Given the description of an element on the screen output the (x, y) to click on. 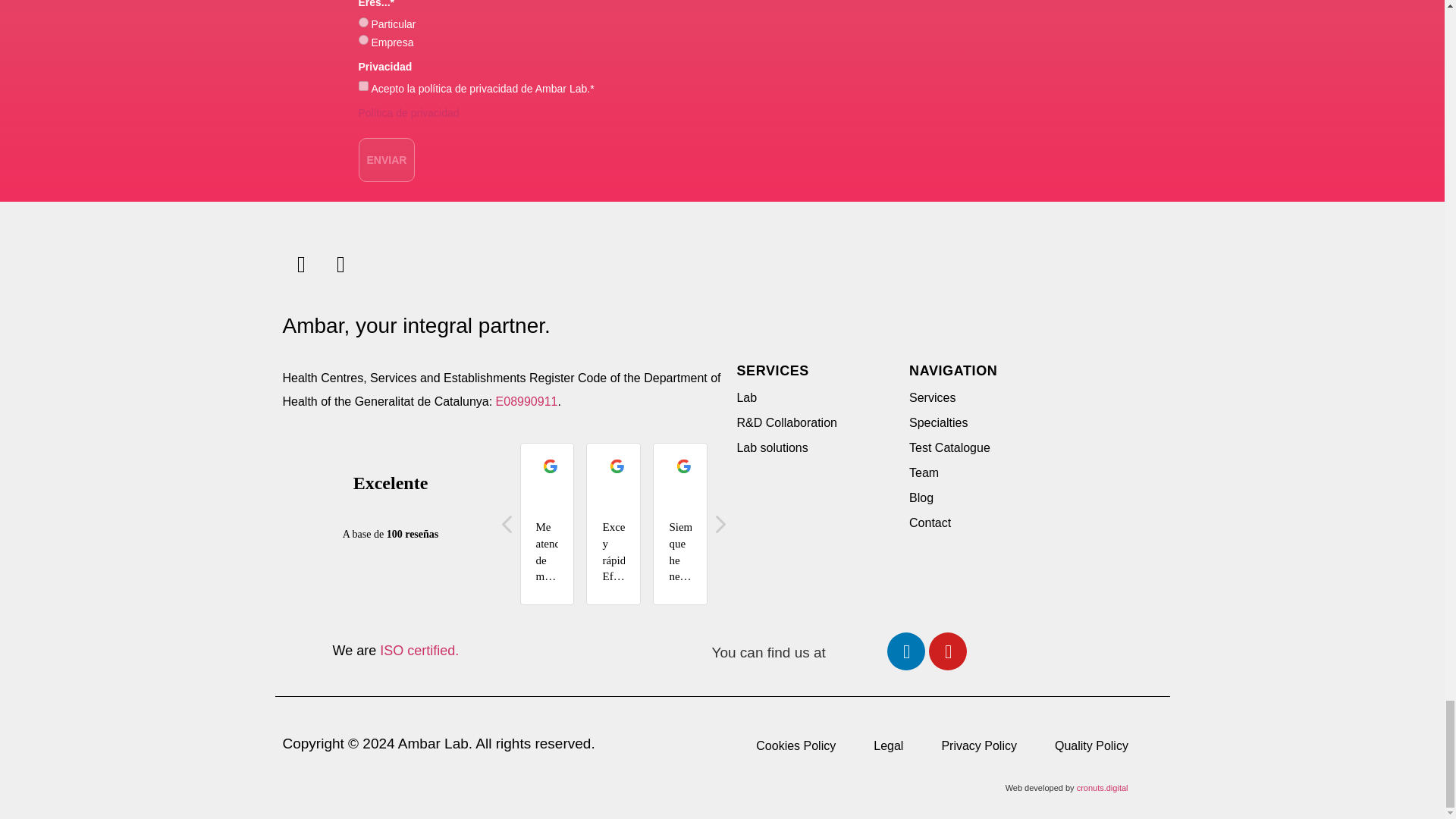
Particular (363, 22)
Empresa (363, 40)
